Given the description of an element on the screen output the (x, y) to click on. 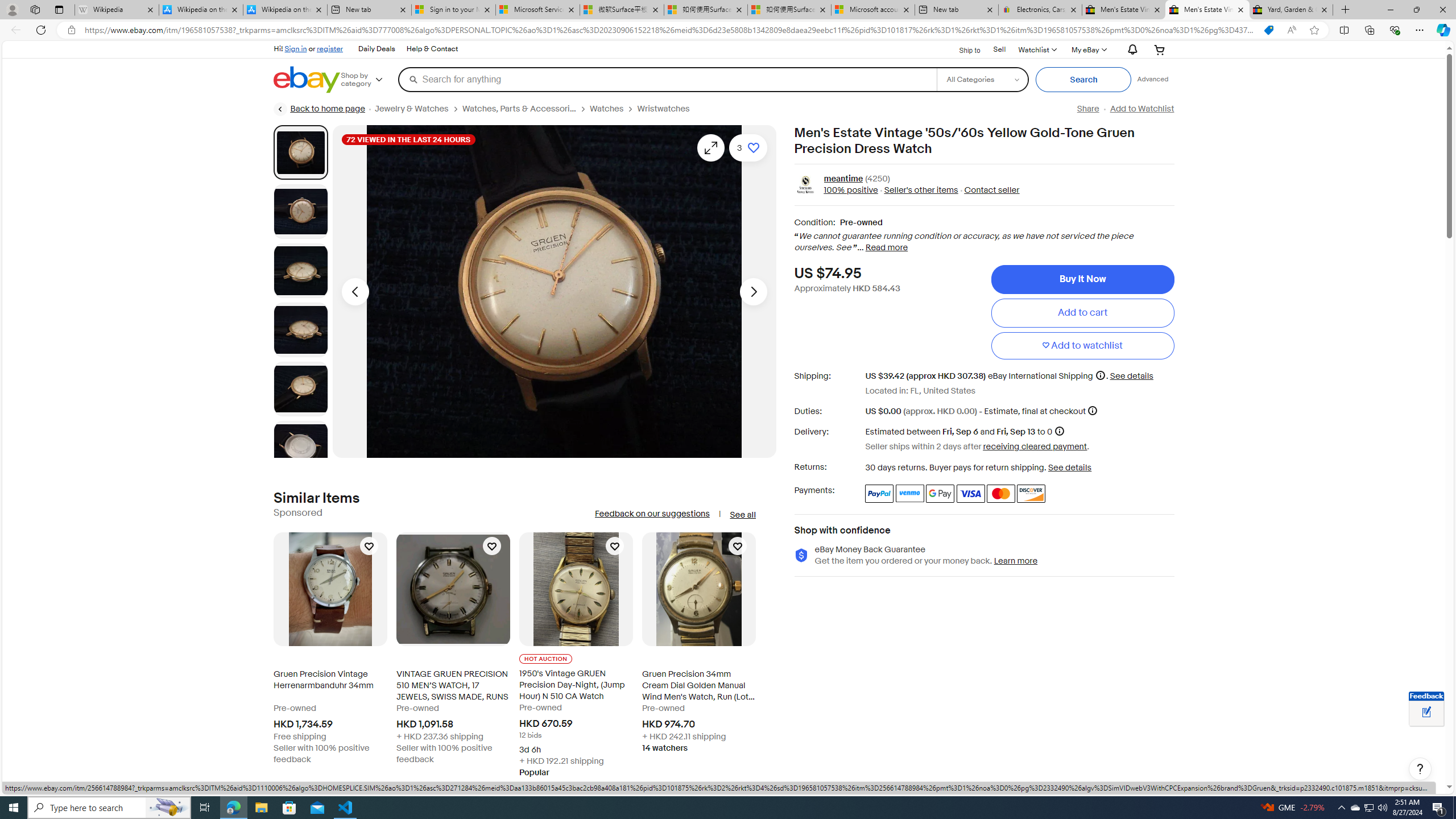
Picture 5 of 8 (300, 388)
Select a category for search (981, 78)
Search for anything (666, 78)
Feedback on our suggestions (652, 513)
My eBay (1088, 49)
Next image - Item images thumbnails (753, 291)
Master Card (999, 493)
Wristwatches (667, 108)
